Given the description of an element on the screen output the (x, y) to click on. 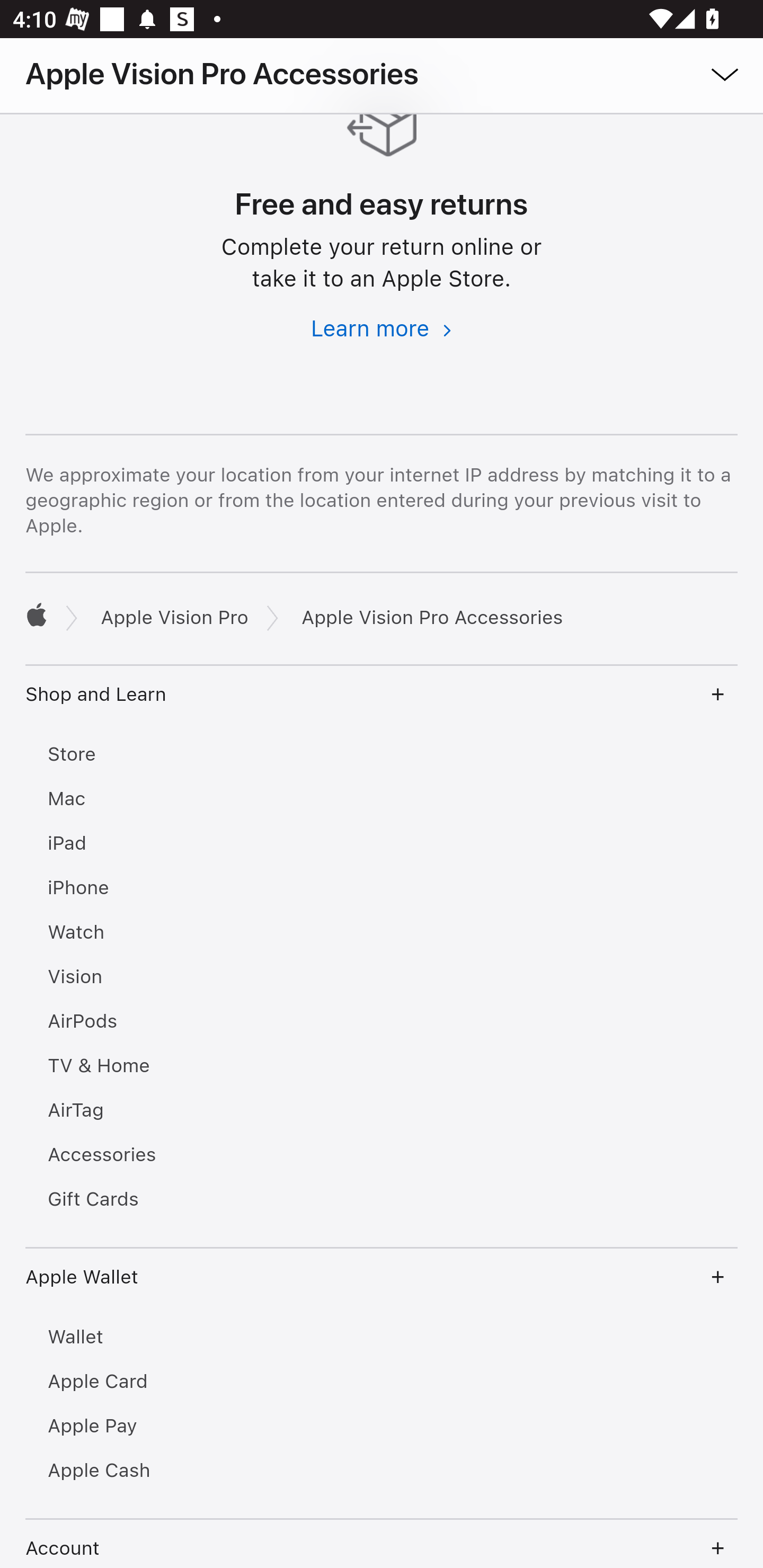
Browse all (699, 73)
Apple (36, 615)
Apple Vision Pro (174, 618)
Shop and Learn (381, 695)
Store (381, 755)
Mac (381, 800)
iPad (381, 844)
iPhone (381, 888)
Watch (381, 933)
Vision (381, 977)
AirPods (381, 1022)
TV & Home (381, 1066)
AirTag (381, 1111)
Accessories (381, 1156)
Gift Cards (381, 1200)
Apple Wallet (381, 1279)
Wallet (381, 1338)
Apple Card (381, 1383)
Apple Pay (381, 1427)
Apple Cash (381, 1471)
Account (381, 1544)
